Given the description of an element on the screen output the (x, y) to click on. 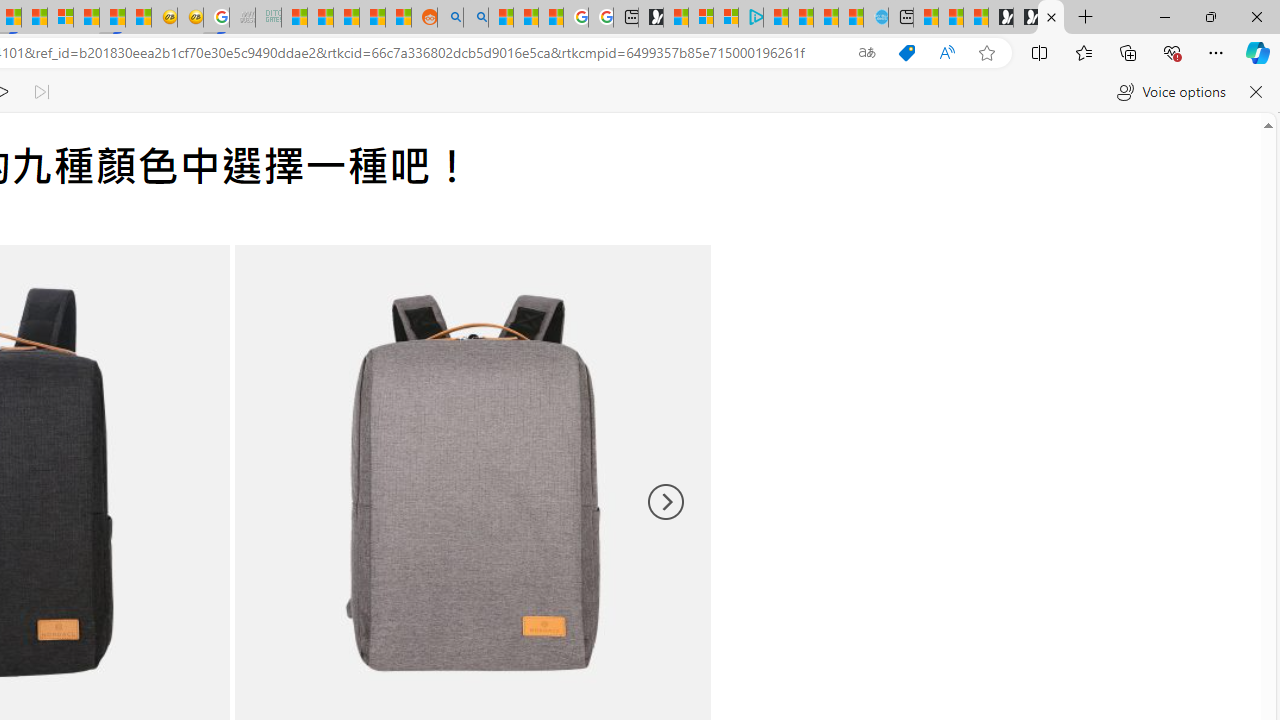
Next (664, 501)
Student Loan Update: Forgiveness Program Ends This Month (372, 17)
Split screen (1039, 52)
Microsoft Start Gaming (650, 17)
Nordace - Nordace Siena Is Not An Ordinary Backpack (1051, 17)
MSNBC - MSN (294, 17)
Close read aloud (1255, 92)
Close tab (1051, 16)
